Given the description of an element on the screen output the (x, y) to click on. 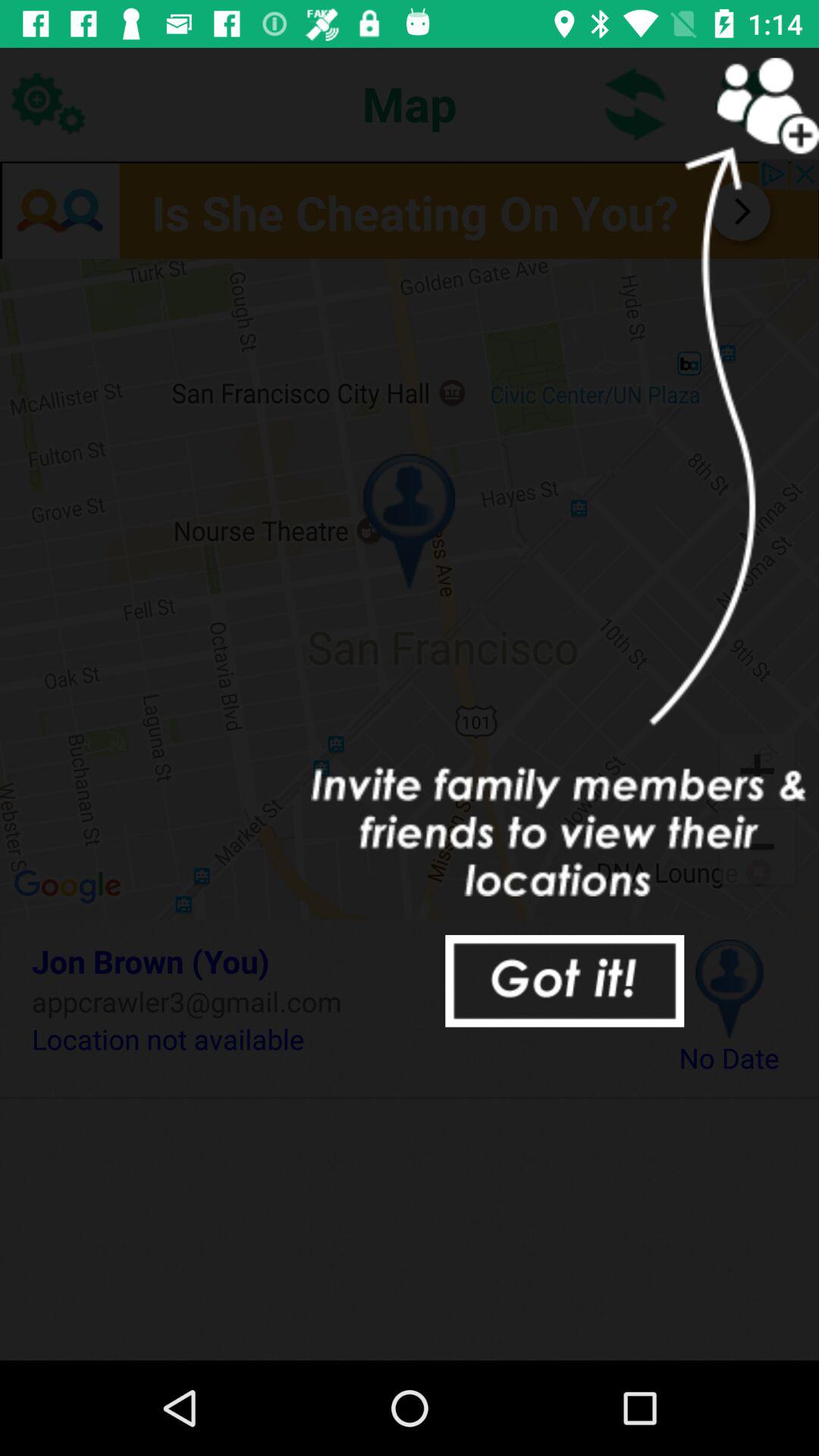
open settings (47, 103)
